Given the description of an element on the screen output the (x, y) to click on. 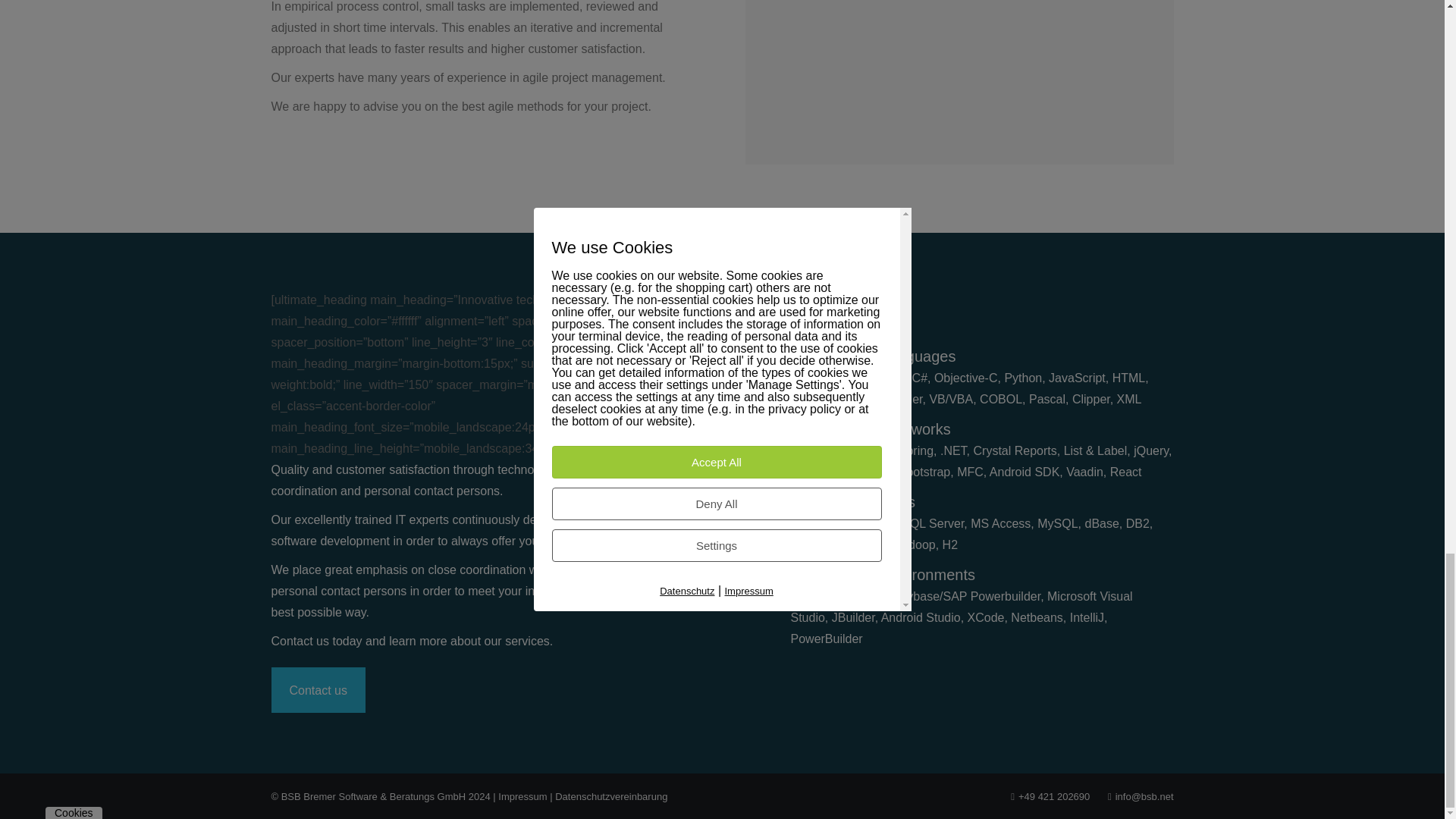
Kostenlos beraten (317, 689)
Datenschutzvereinbarung (610, 796)
Impressum (522, 796)
Contact us (317, 689)
